Given the description of an element on the screen output the (x, y) to click on. 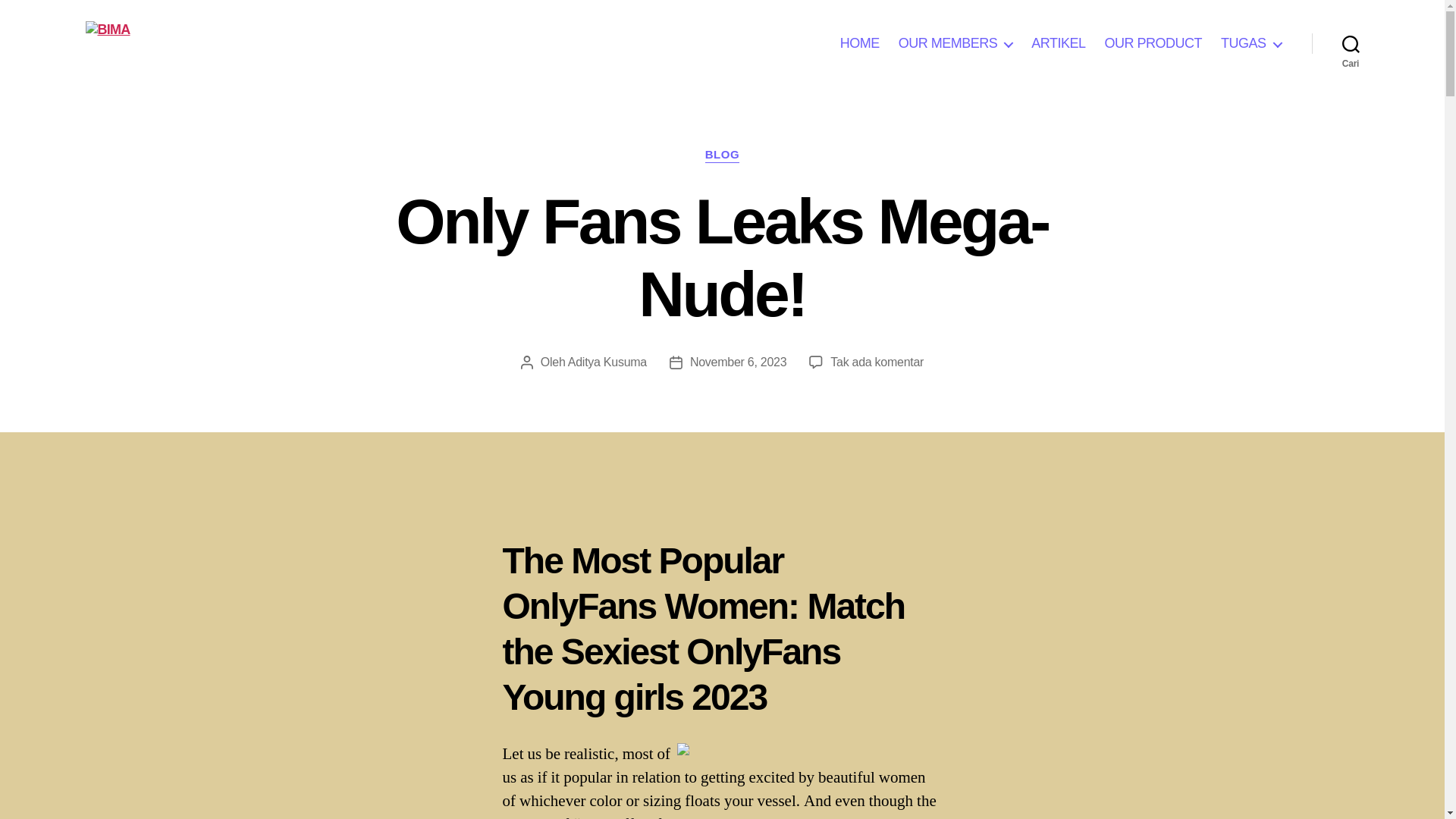
Aditya Kusuma (606, 361)
TUGAS (1251, 44)
OUR MEMBERS (955, 44)
BLOG (721, 155)
HOME (876, 361)
Cari (859, 44)
OUR PRODUCT (1350, 43)
ARTIKEL (1152, 44)
November 6, 2023 (1057, 44)
